Given the description of an element on the screen output the (x, y) to click on. 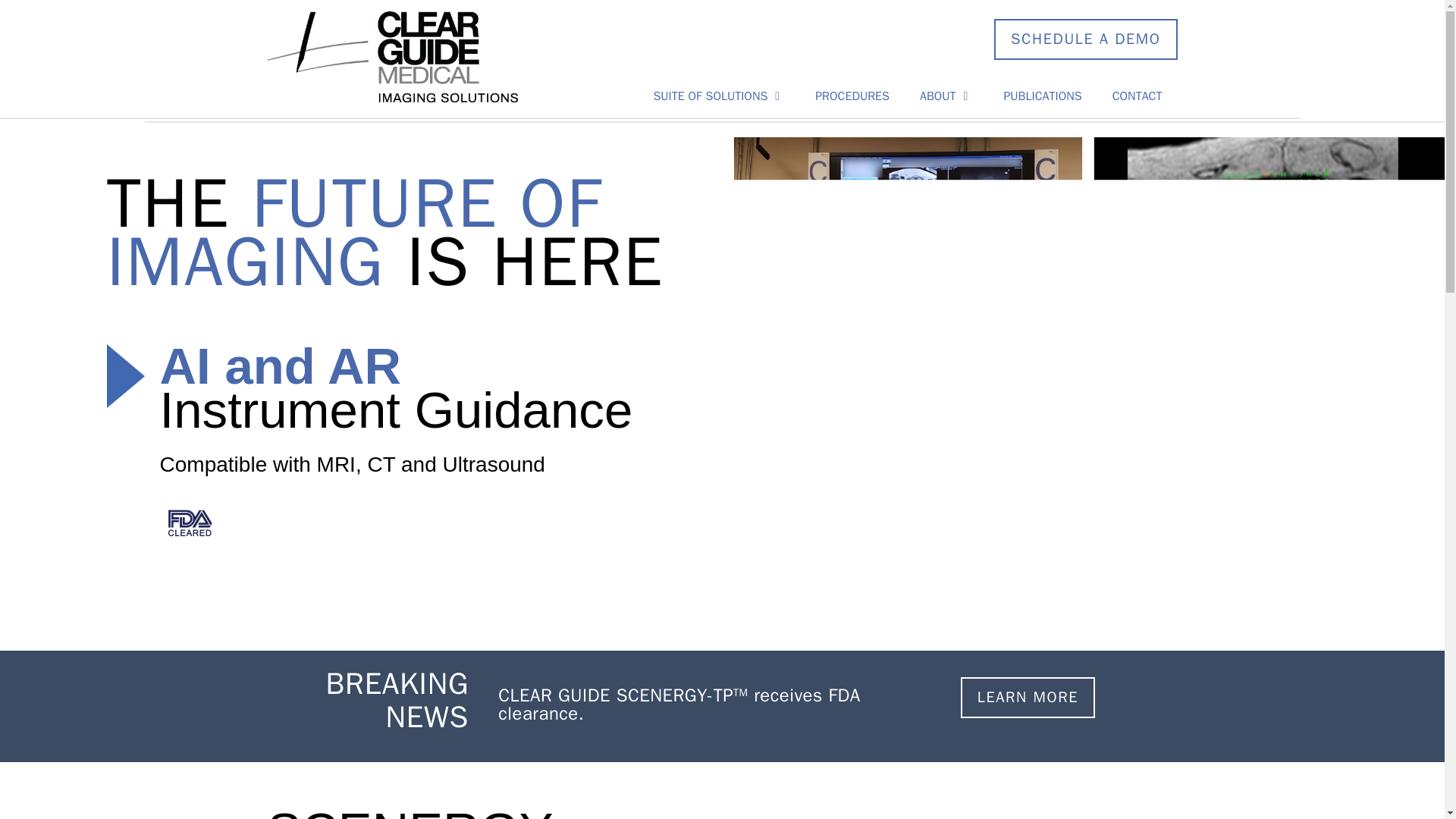
SCHEDULE A DEMO (1085, 39)
SCHEDULE A DEMO (1085, 38)
PUBLICATIONS (1042, 95)
ABOUT (946, 95)
LEARN MORE (1027, 697)
LEARN MORE (1027, 697)
SUITE OF SOLUTIONS (718, 95)
CONTACT (1137, 95)
PROCEDURES (851, 95)
